Given the description of an element on the screen output the (x, y) to click on. 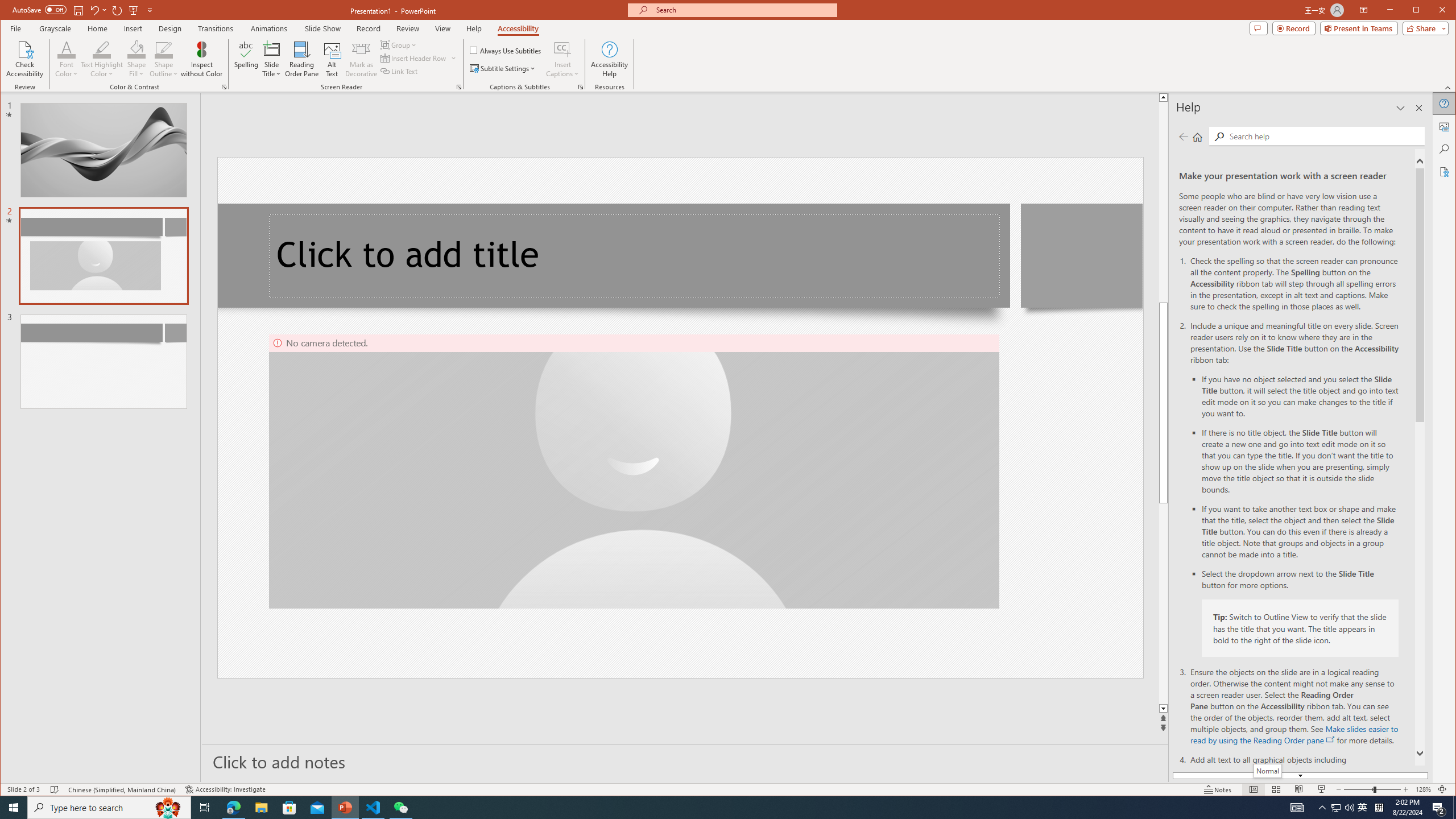
Group (399, 44)
Spelling... (246, 59)
Alt Text (331, 59)
Previous page (1183, 136)
AutoSave (38, 9)
Microsoft search (742, 10)
Captions & Subtitles (580, 86)
Normal (1267, 771)
Link Text (399, 70)
Slide Title (271, 59)
From Beginning (133, 9)
